Given the description of an element on the screen output the (x, y) to click on. 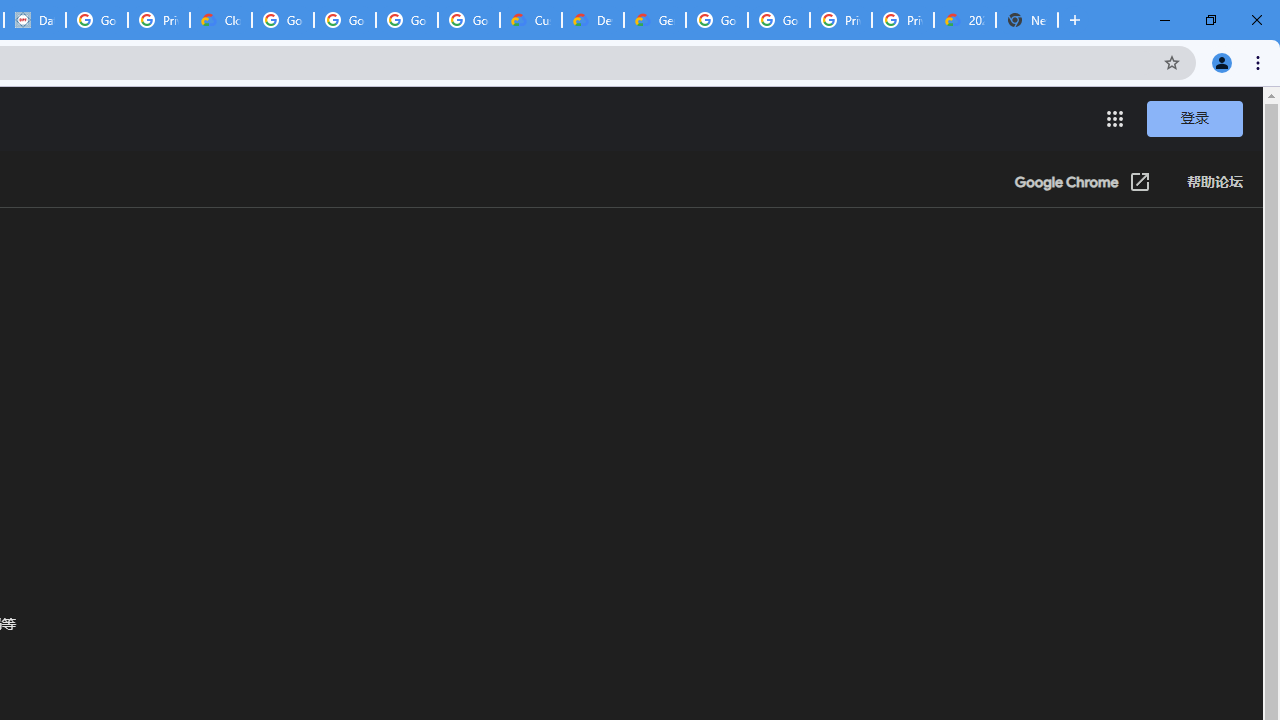
Gemini for Business and Developers | Google Cloud (654, 20)
Customer Care | Google Cloud (530, 20)
Google Cloud Platform (778, 20)
New Tab (1026, 20)
